Given the description of an element on the screen output the (x, y) to click on. 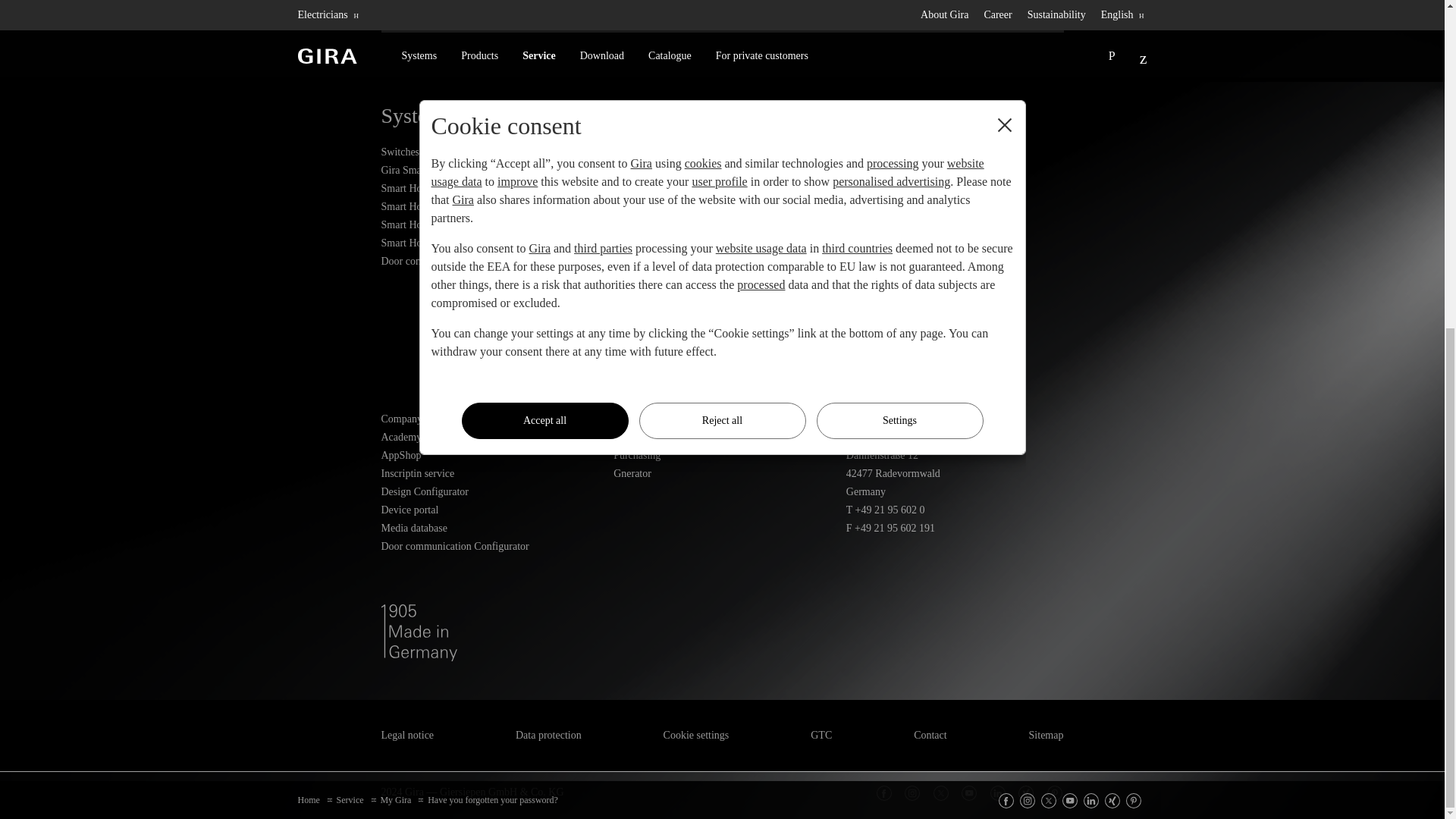
Products (721, 123)
My Gira (954, 152)
Configurators (954, 225)
Security (721, 225)
Service (954, 123)
Newsletter (954, 170)
Smart Home: System 3000 Bluetooth (489, 225)
Design lines (721, 188)
Trade fair dates (954, 188)
Door communication (721, 207)
Smart Home: Gira One (489, 207)
Apps (954, 243)
Gira Smart Home (489, 170)
New products (721, 152)
Door communication system (489, 261)
